Given the description of an element on the screen output the (x, y) to click on. 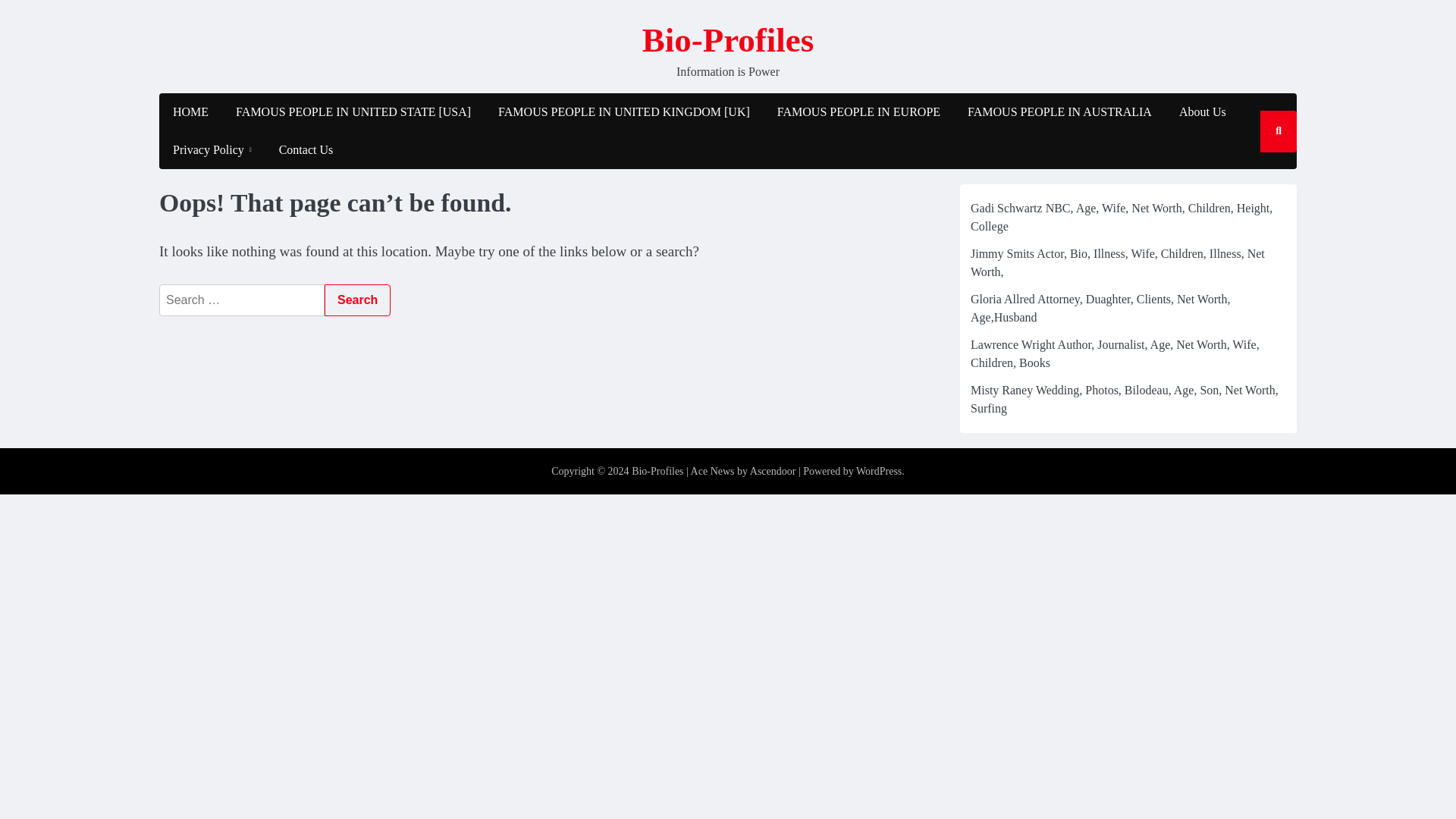
Search (357, 300)
FAMOUS PEOPLE IN EUROPE (857, 112)
FAMOUS PEOPLE IN AUSTRALIA (1059, 112)
Search (1261, 175)
Search (357, 300)
WordPress (878, 471)
Ascendoor (772, 471)
Privacy Policy (211, 149)
